Given the description of an element on the screen output the (x, y) to click on. 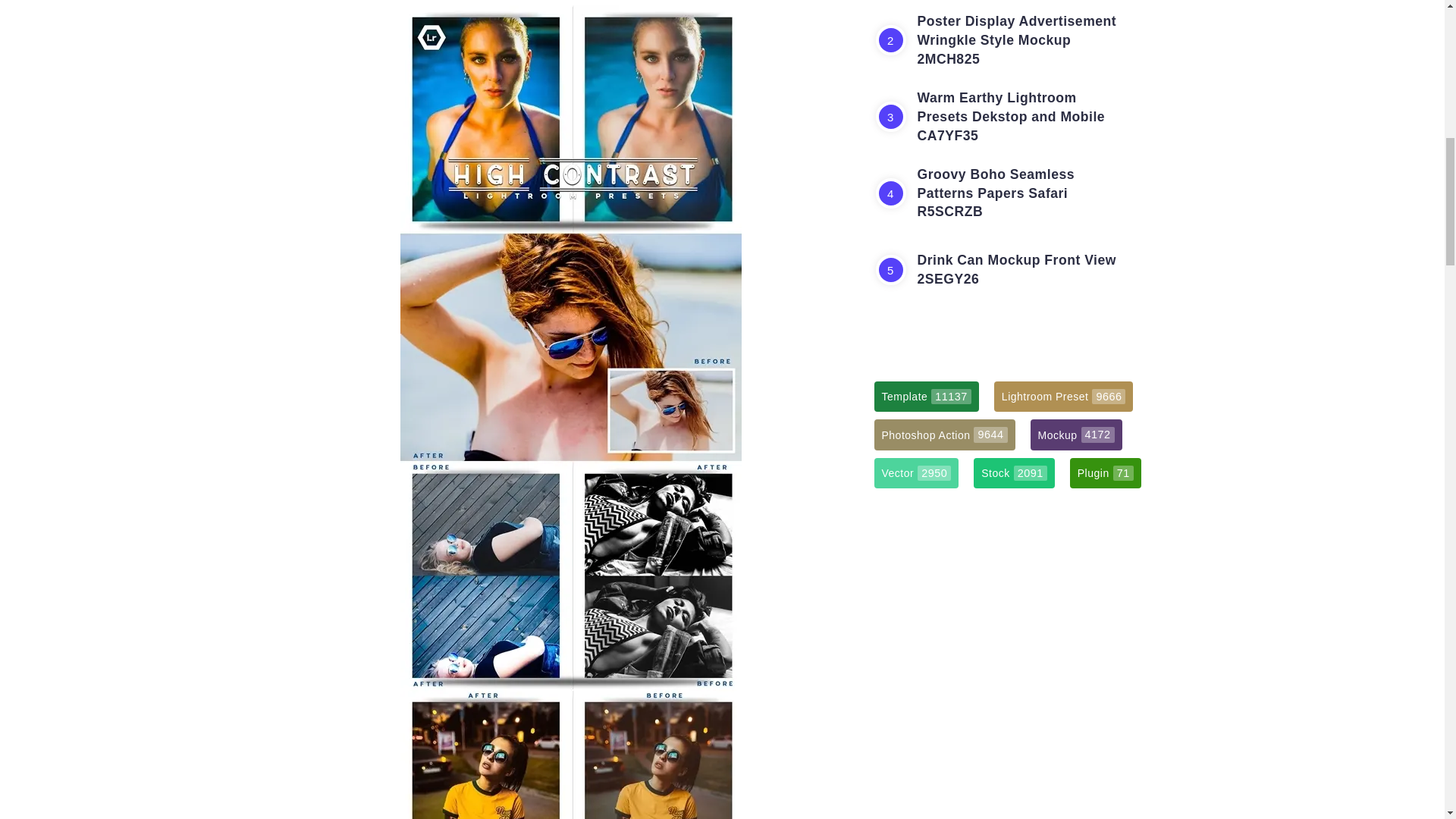
Groovy Boho Seamless Patterns Papers Safari R5SCRZB (996, 192)
Poster Display Advertisement Wringkle Style Mockup 2MCH825 (1016, 39)
Drink Can Mockup Front View 2SEGY26 (1016, 269)
Warm Earthy Lightroom Presets Dekstop and Mobile CA7YF35 (1011, 116)
